Given the description of an element on the screen output the (x, y) to click on. 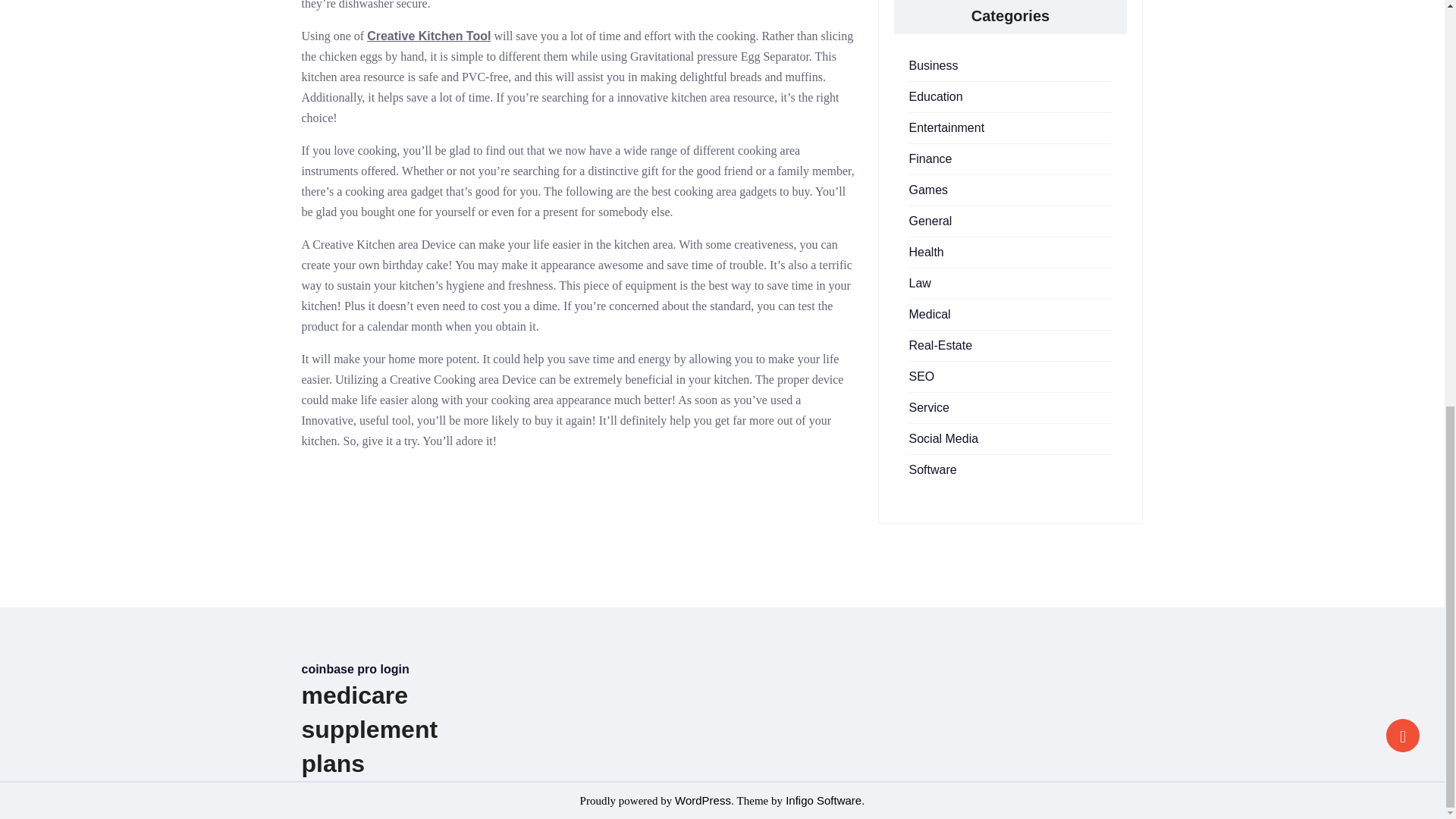
Law (919, 282)
Software (932, 469)
Real-Estate (940, 345)
Games (927, 189)
SEO (921, 376)
Education (935, 96)
Medical (929, 314)
Service (928, 407)
Entertainment (946, 127)
Finance (930, 158)
Health (925, 251)
WordPress. (704, 799)
coinbase pro login (355, 668)
General (930, 220)
Creative Kitchen Tool (428, 35)
